Given the description of an element on the screen output the (x, y) to click on. 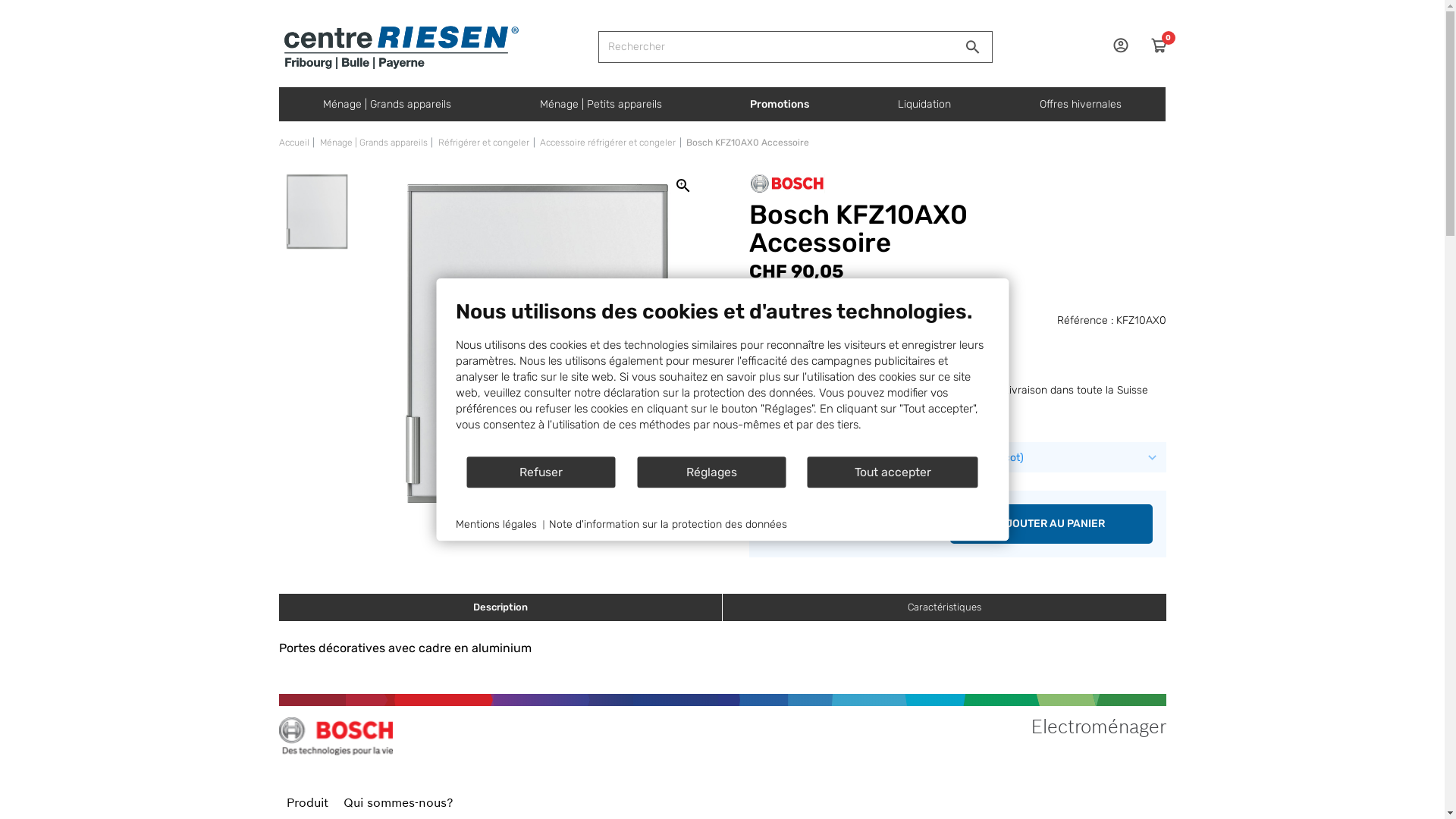
Offres hivernales Element type: text (1080, 104)
AJOUTER AU PANIER Element type: text (1050, 523)
Accueil Element type: text (294, 142)
Promotions Element type: text (779, 104)
Tout accepter Element type: text (892, 471)
Liquidation Element type: text (924, 104)
Description Element type: text (500, 607)
Refuser Element type: text (540, 471)
